Given the description of an element on the screen output the (x, y) to click on. 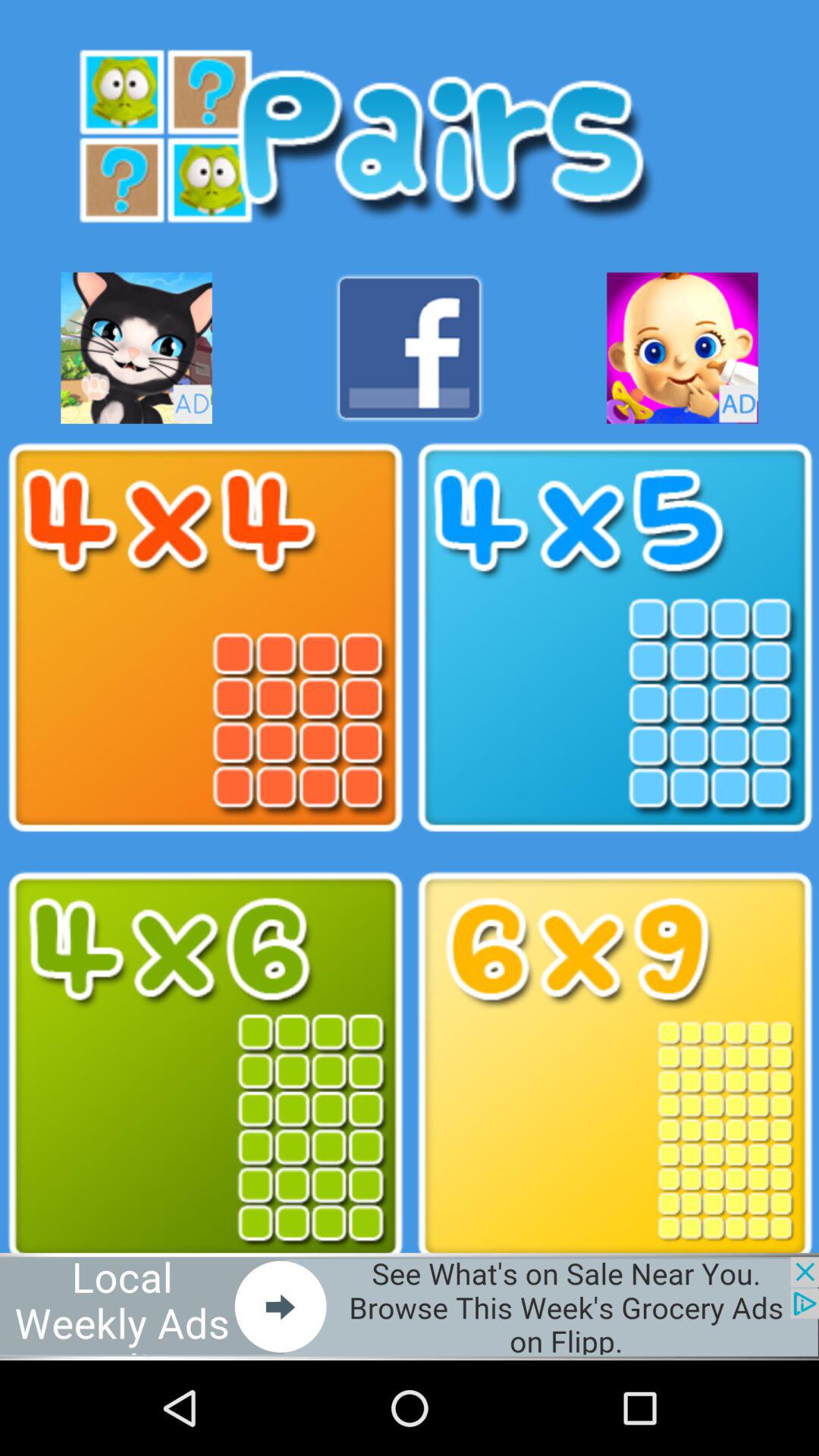
game page (682, 347)
